Given the description of an element on the screen output the (x, y) to click on. 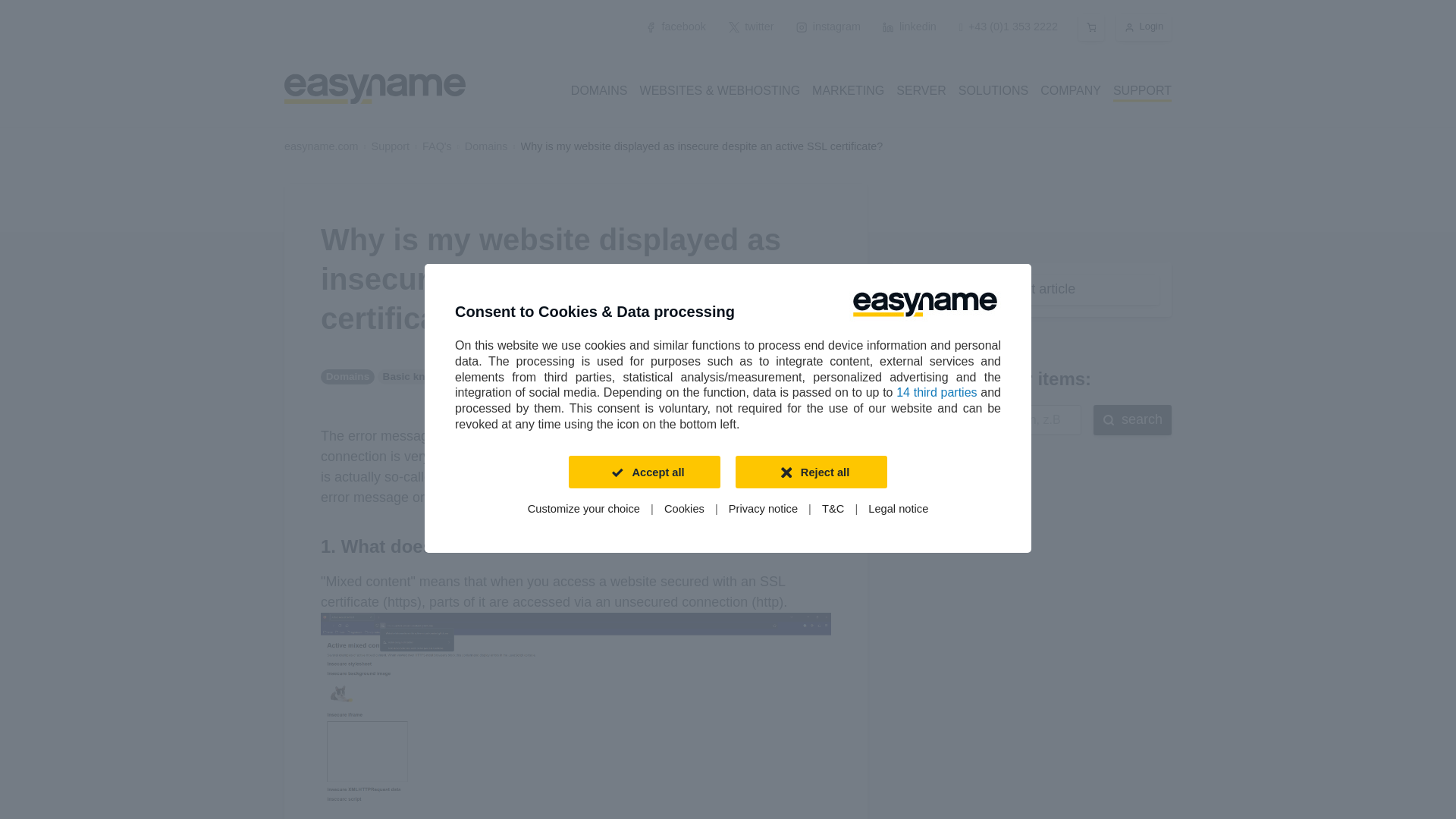
Customize your choice (583, 509)
twitter (751, 26)
Support (390, 146)
linkedin (909, 26)
Privacy notice (762, 509)
Cookies (683, 509)
Accept all (644, 471)
facebook (675, 26)
Reject all (810, 471)
easyname.com (320, 146)
Domains (486, 146)
FAQ's (436, 146)
Login (1144, 26)
Show shopping cart (1091, 26)
instagram (827, 26)
